Given the description of an element on the screen output the (x, y) to click on. 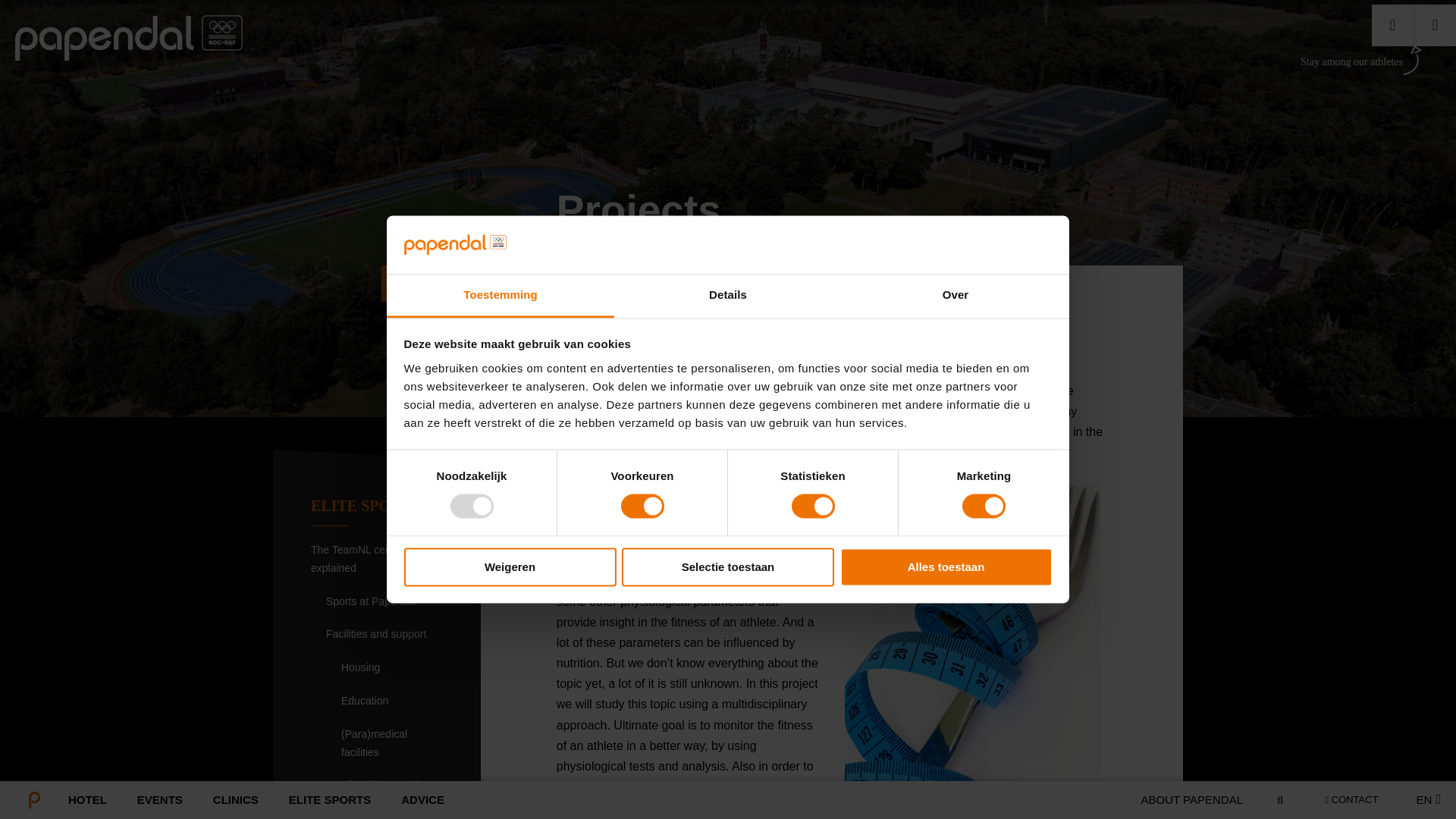
Details (727, 295)
Toestemming (500, 295)
Back to Innovation (419, 283)
Over (954, 295)
